Given the description of an element on the screen output the (x, y) to click on. 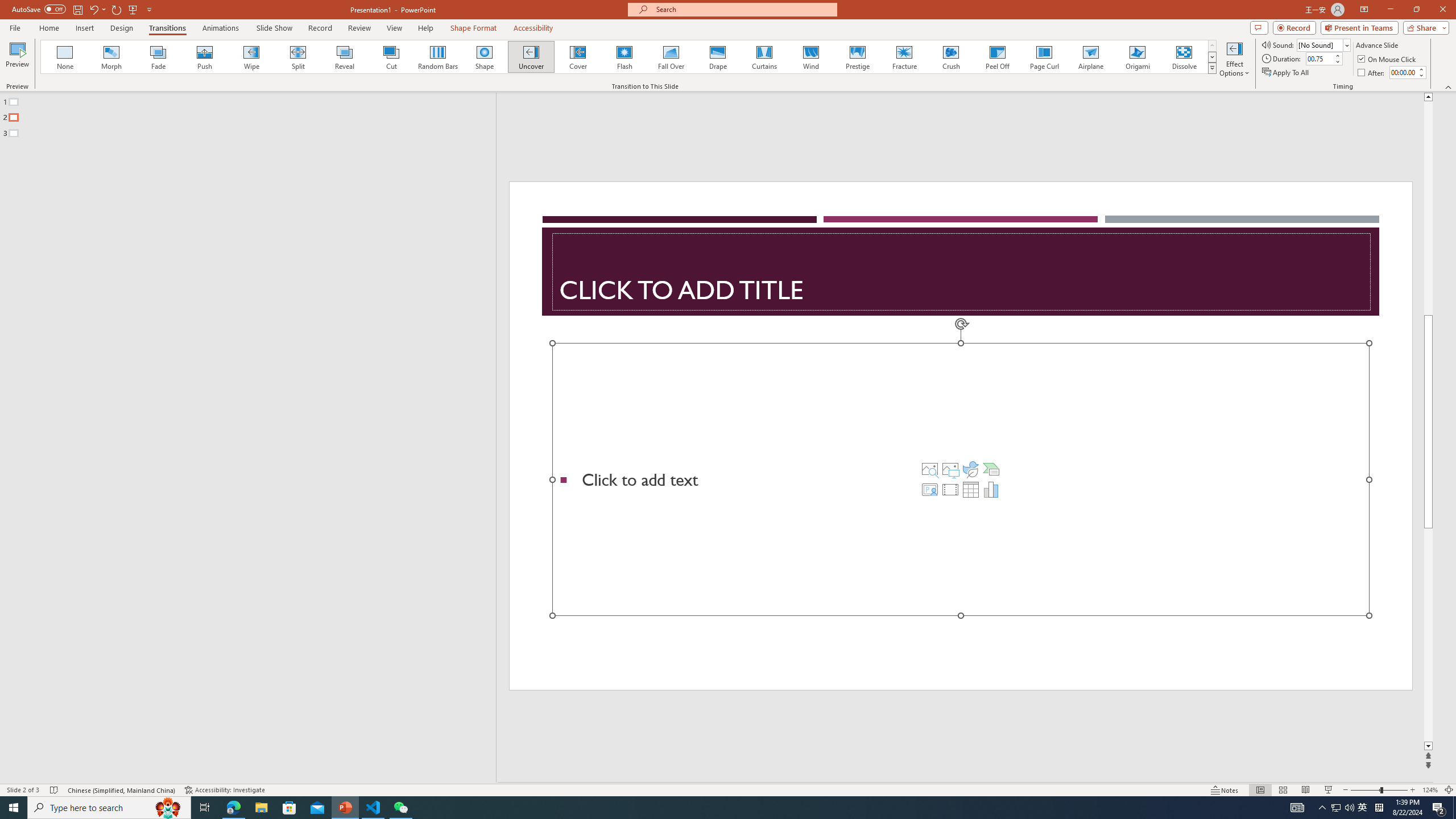
Flash (624, 56)
Wipe (251, 56)
Shape (484, 56)
Fracture (903, 56)
